Given the description of an element on the screen output the (x, y) to click on. 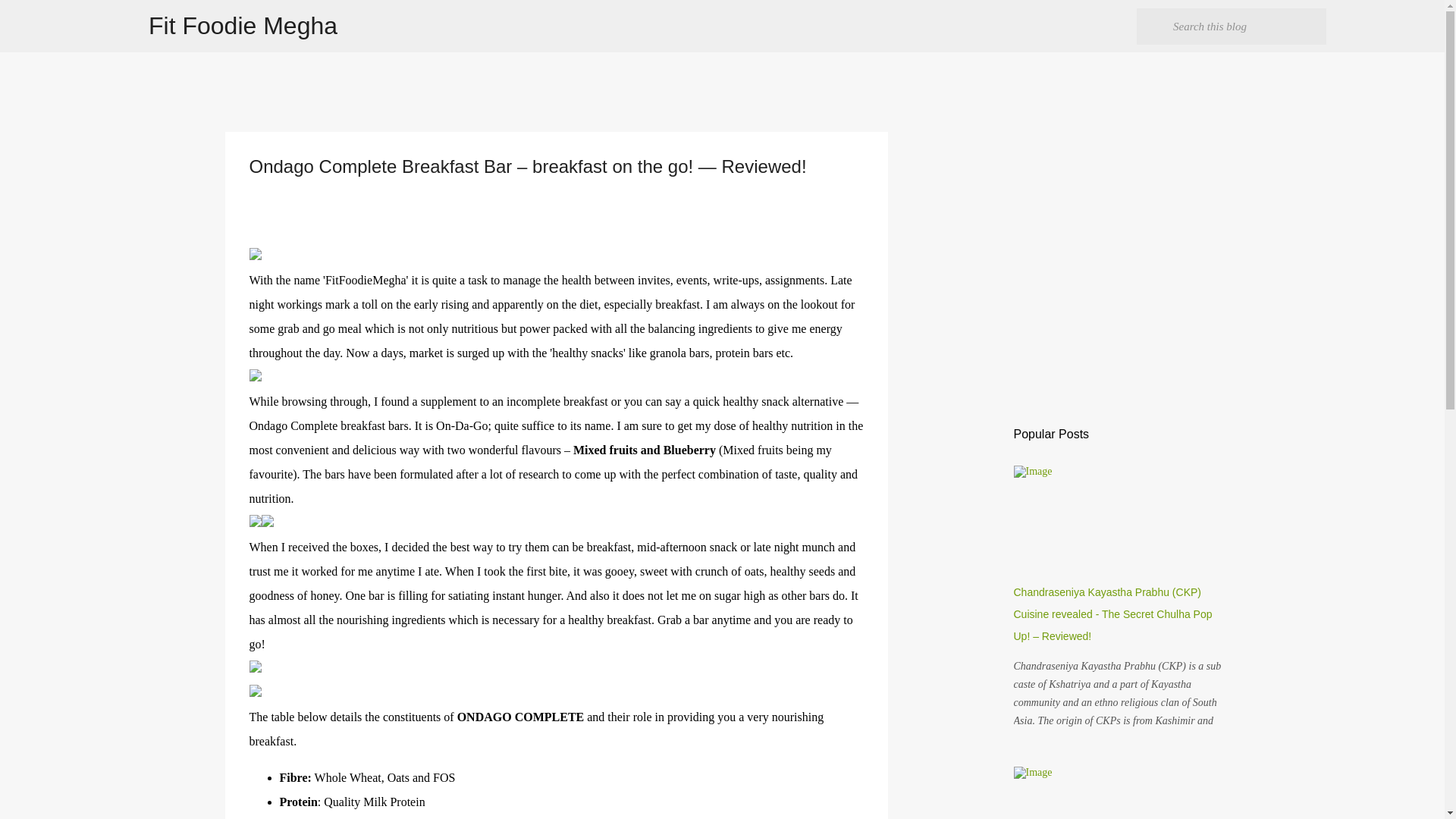
Fit Foodie Megha (242, 25)
